Given the description of an element on the screen output the (x, y) to click on. 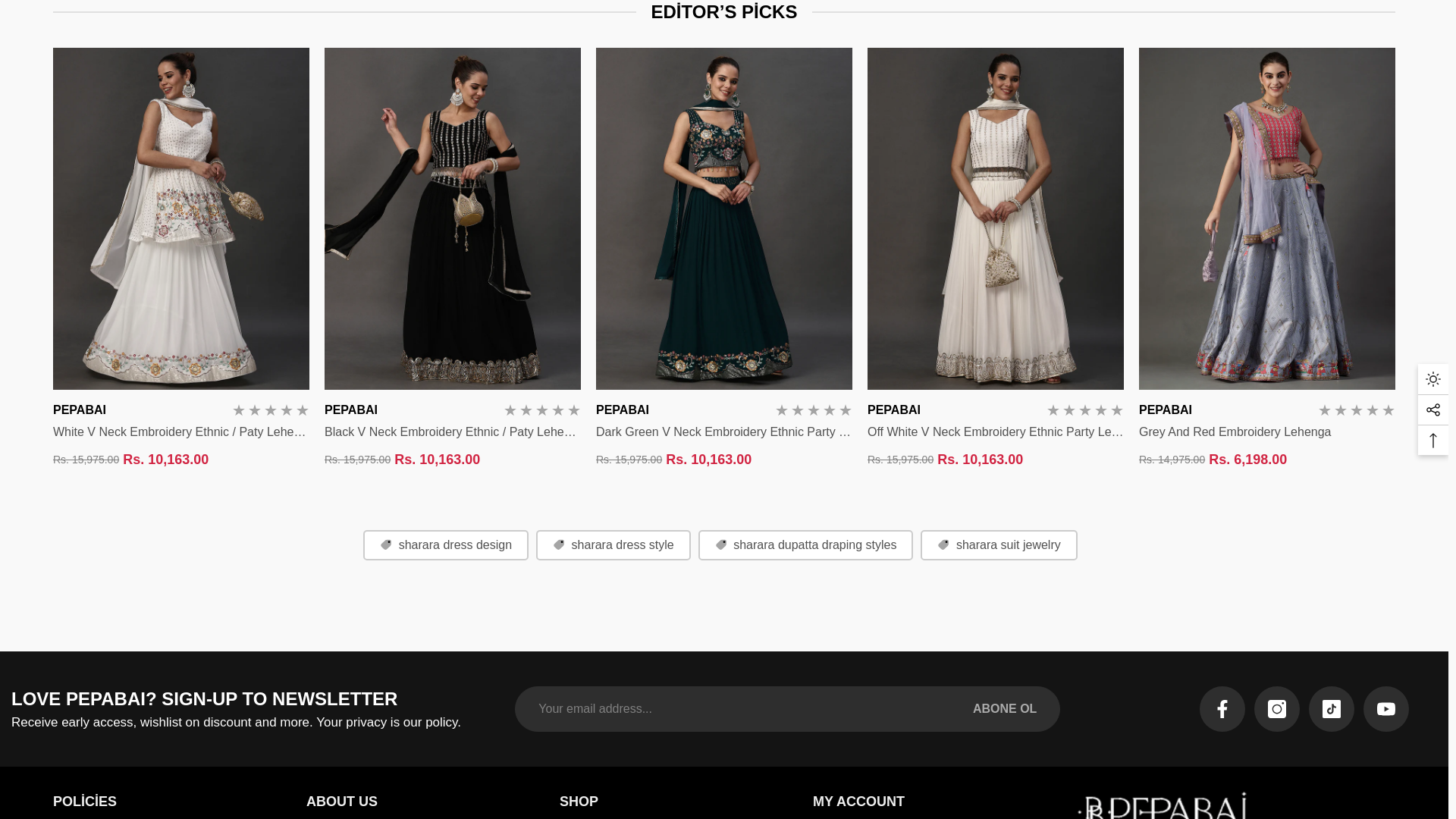
PEPABAI (622, 409)
PEPABAI (1165, 409)
PEPABAI (622, 409)
PEPABAI (79, 409)
PepaBai (1163, 798)
PEPABAI (350, 409)
PEPABAI (79, 409)
PEPABAI (893, 409)
PEPABAI (893, 409)
PEPABAI (350, 409)
Dark Green V Neck Embroidery Ethnic Party Lehenga (723, 432)
